Given the description of an element on the screen output the (x, y) to click on. 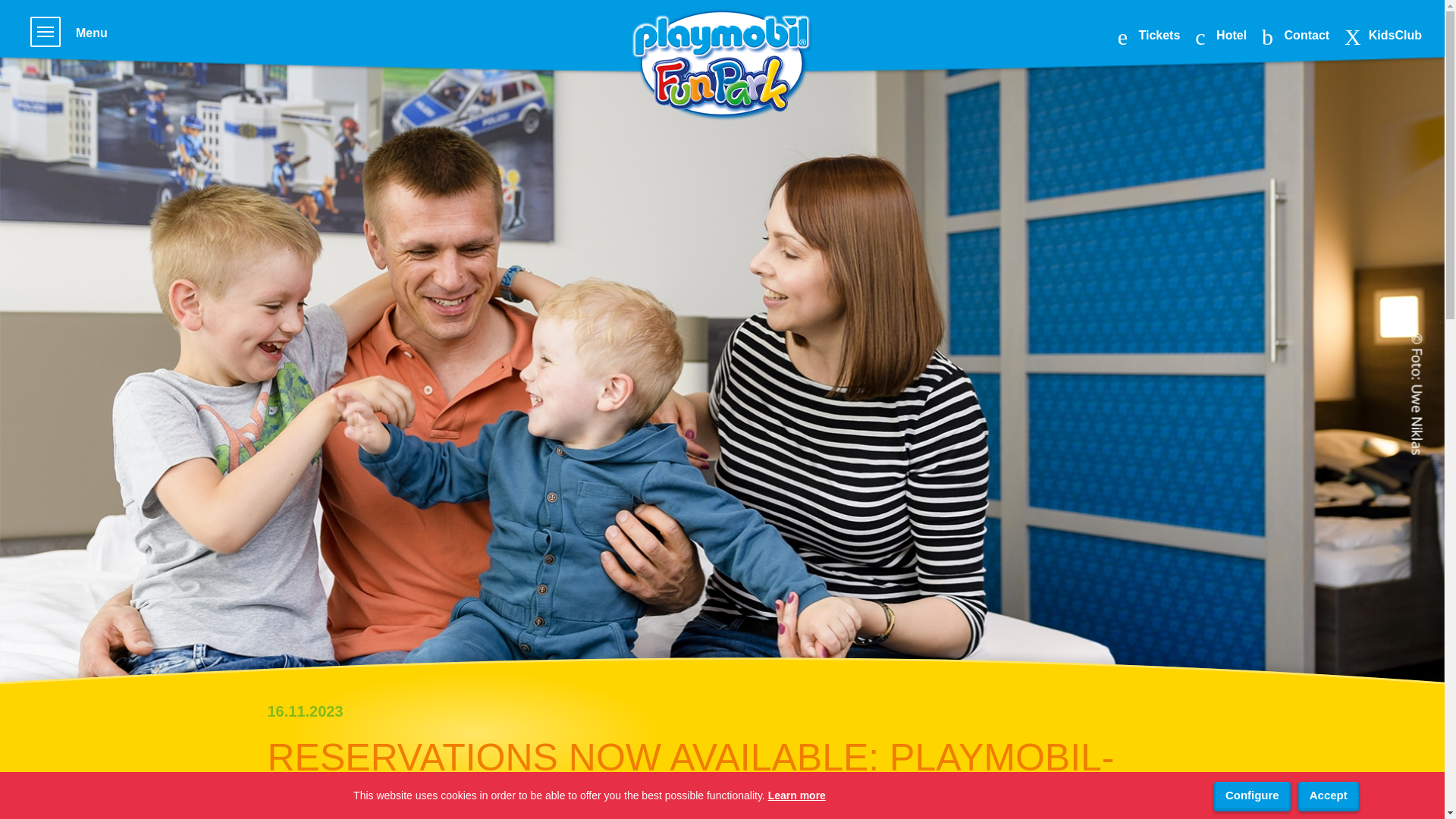
Playmobil FunPark (721, 64)
Contact (1295, 34)
Contact (1295, 34)
Hotel (1220, 34)
Hotel (1220, 34)
Tickets (1149, 34)
KidsClub Login (1382, 34)
Menu (69, 32)
Tickets (1149, 34)
KidsClub (1382, 34)
